Given the description of an element on the screen output the (x, y) to click on. 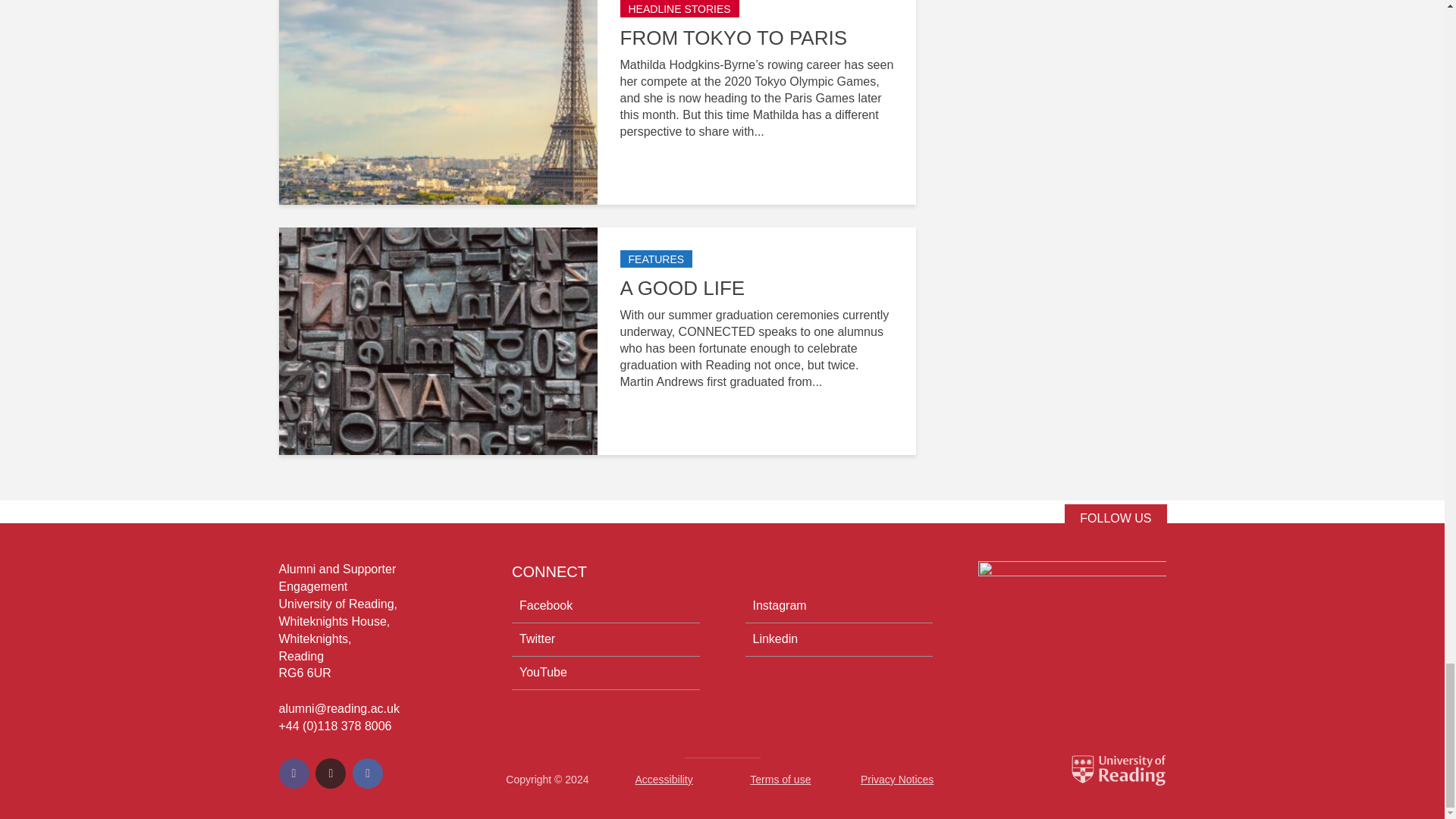
Follow Connected on Twitter (1115, 518)
HEADLINE STORIES (679, 8)
FROM TOKYO TO PARIS (756, 37)
A Good Life (437, 339)
From Tokyo To Paris (437, 89)
FEATURES (656, 258)
A GOOD LIFE (756, 288)
